Given the description of an element on the screen output the (x, y) to click on. 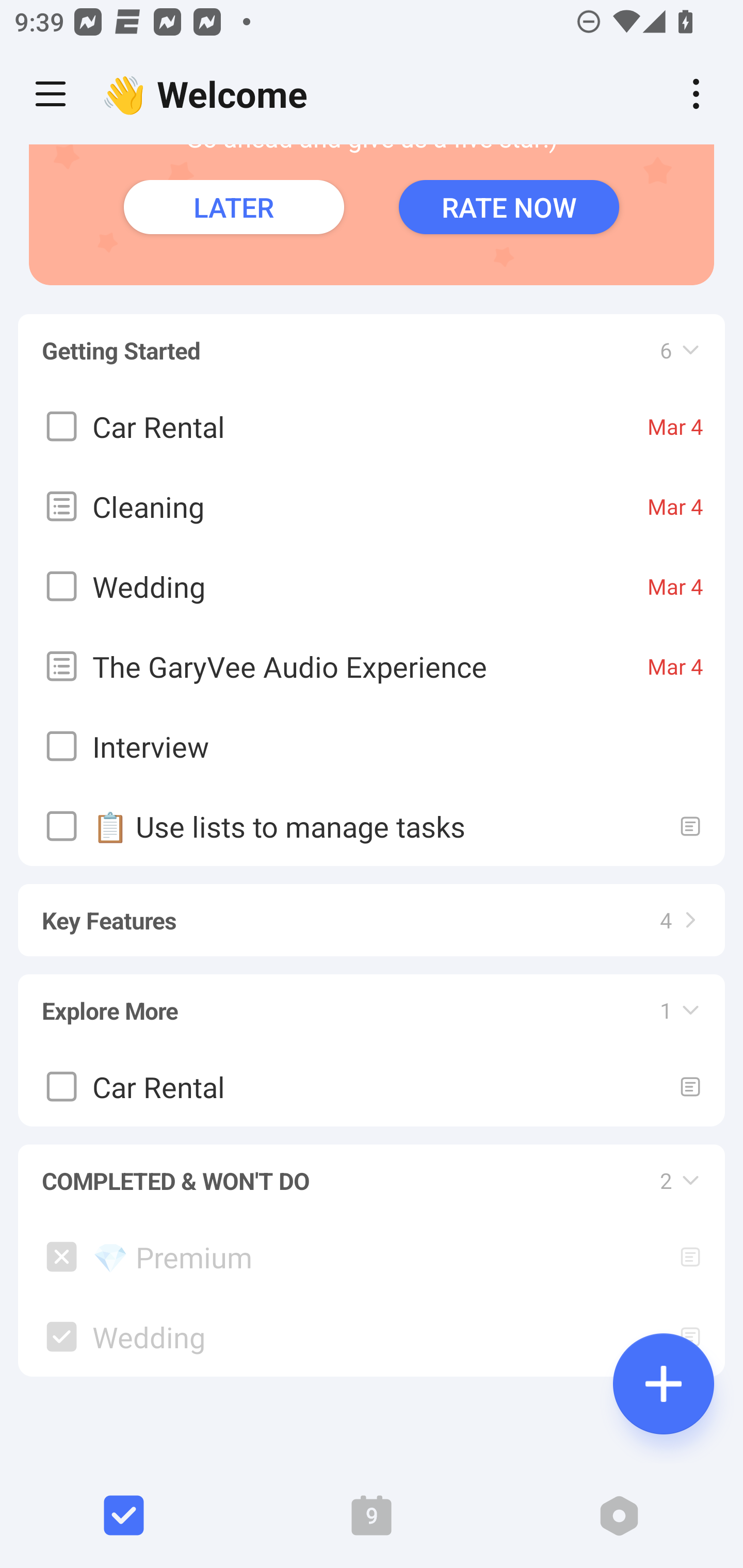
👋 Welcome (209, 93)
LATER (234, 206)
RATE NOW (508, 206)
Getting Started 6 (371, 340)
Car Rental Mar 4 (371, 425)
Mar 4 (675, 425)
Cleaning Mar 4 (371, 505)
Mar 4 (675, 505)
Wedding Mar 4 (371, 585)
Mar 4 (675, 585)
The GaryVee Audio Experience Mar 4 (371, 665)
Mar 4 (675, 665)
Interview (371, 745)
📋 Use lists to manage tasks (371, 825)
Key Features 4 (371, 910)
Explore More 1 (371, 1000)
Car Rental (371, 1085)
COMPLETED & WON'T DO 2 (371, 1170)
💎 Premium (371, 1256)
Wedding (371, 1336)
